Given the description of an element on the screen output the (x, y) to click on. 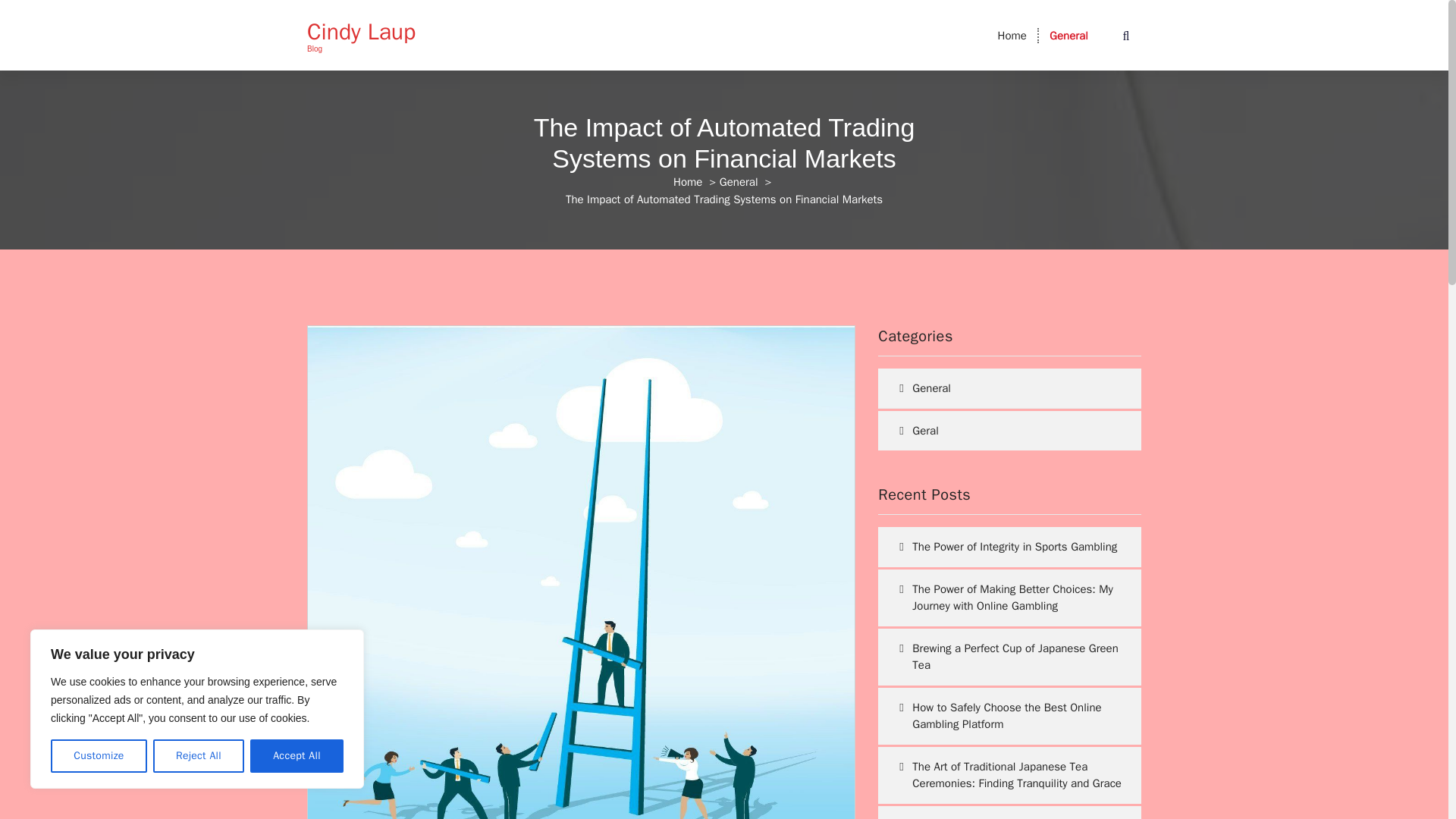
Cindy Laup (360, 31)
Customize (98, 756)
Home (686, 182)
General (738, 182)
General (1068, 35)
Home (1012, 35)
Home (1012, 35)
Reject All (198, 756)
General (1068, 35)
Accept All (296, 756)
